Given the description of an element on the screen output the (x, y) to click on. 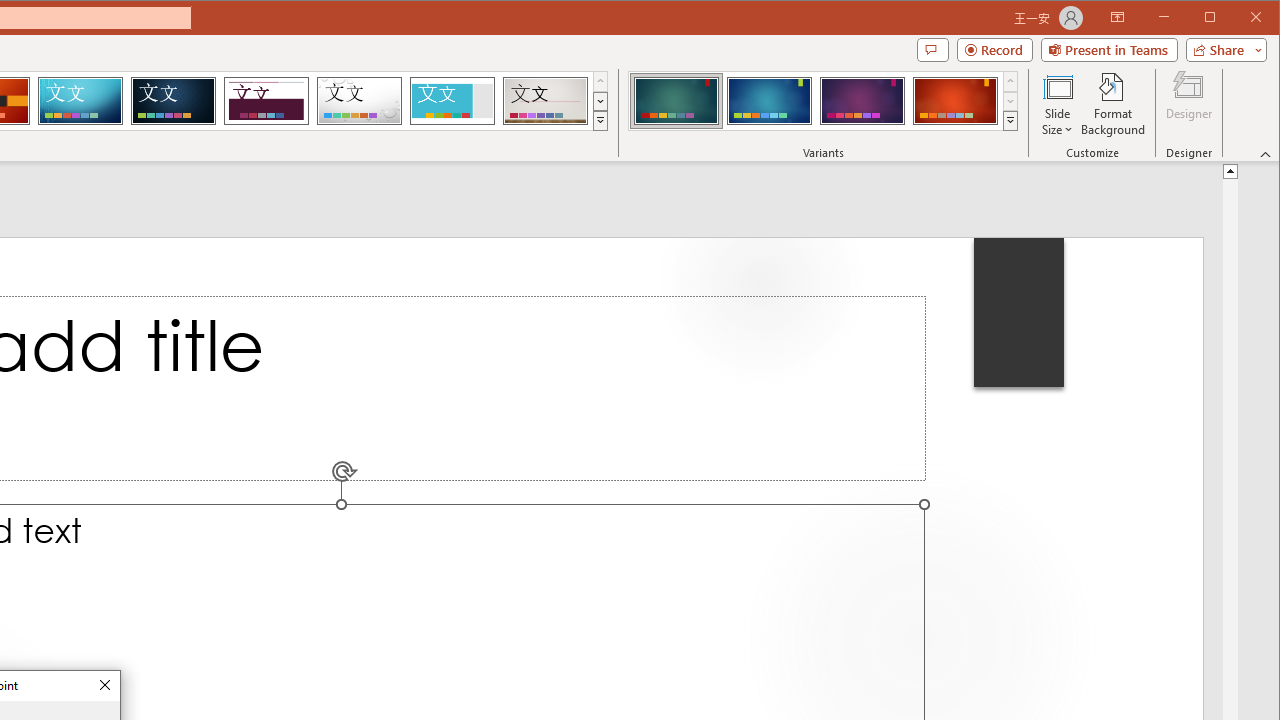
AutomationID: ThemeVariantsGallery (824, 101)
Gallery (545, 100)
Frame (452, 100)
Ion Variant 1 (676, 100)
Droplet (359, 100)
Ion Variant 2 (769, 100)
Ion Variant 4 (955, 100)
